Given the description of an element on the screen output the (x, y) to click on. 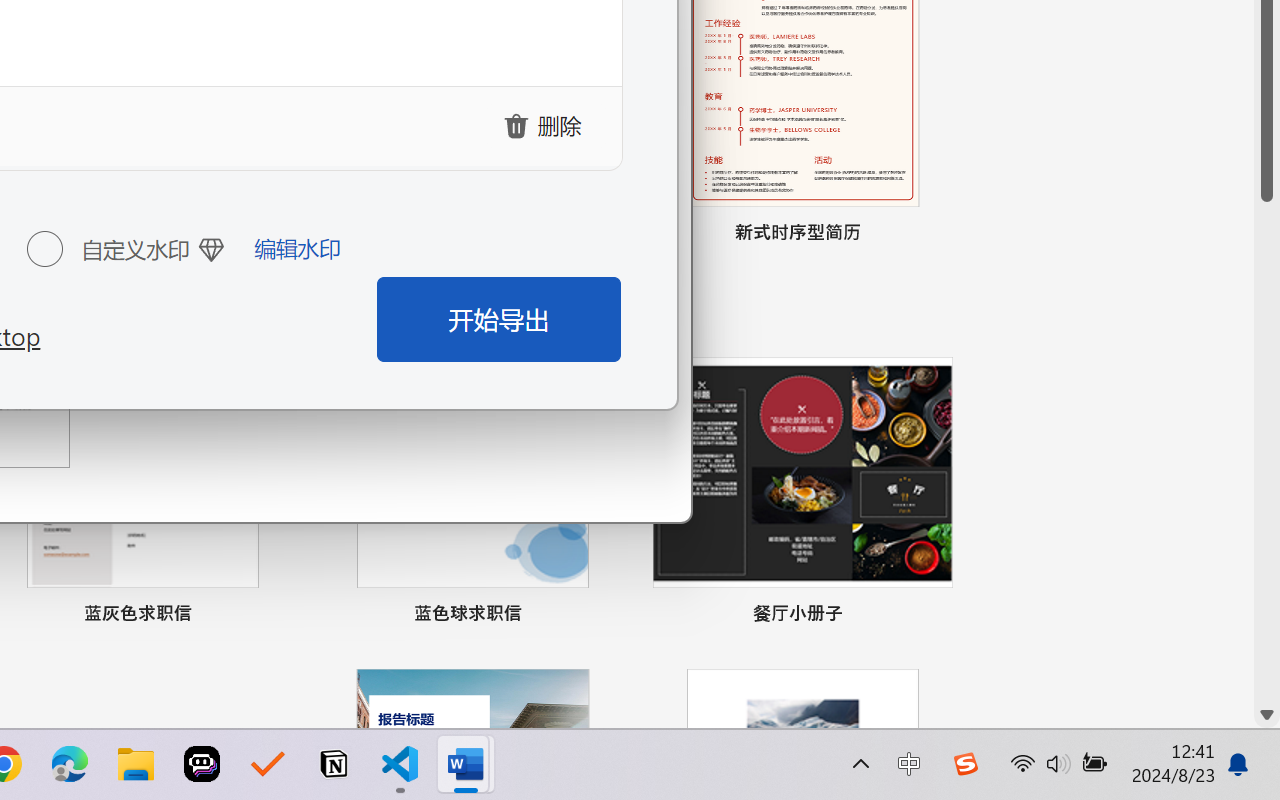
Page down (1267, 451)
clearAllFile (545, 125)
Line down (1267, 715)
